Given the description of an element on the screen output the (x, y) to click on. 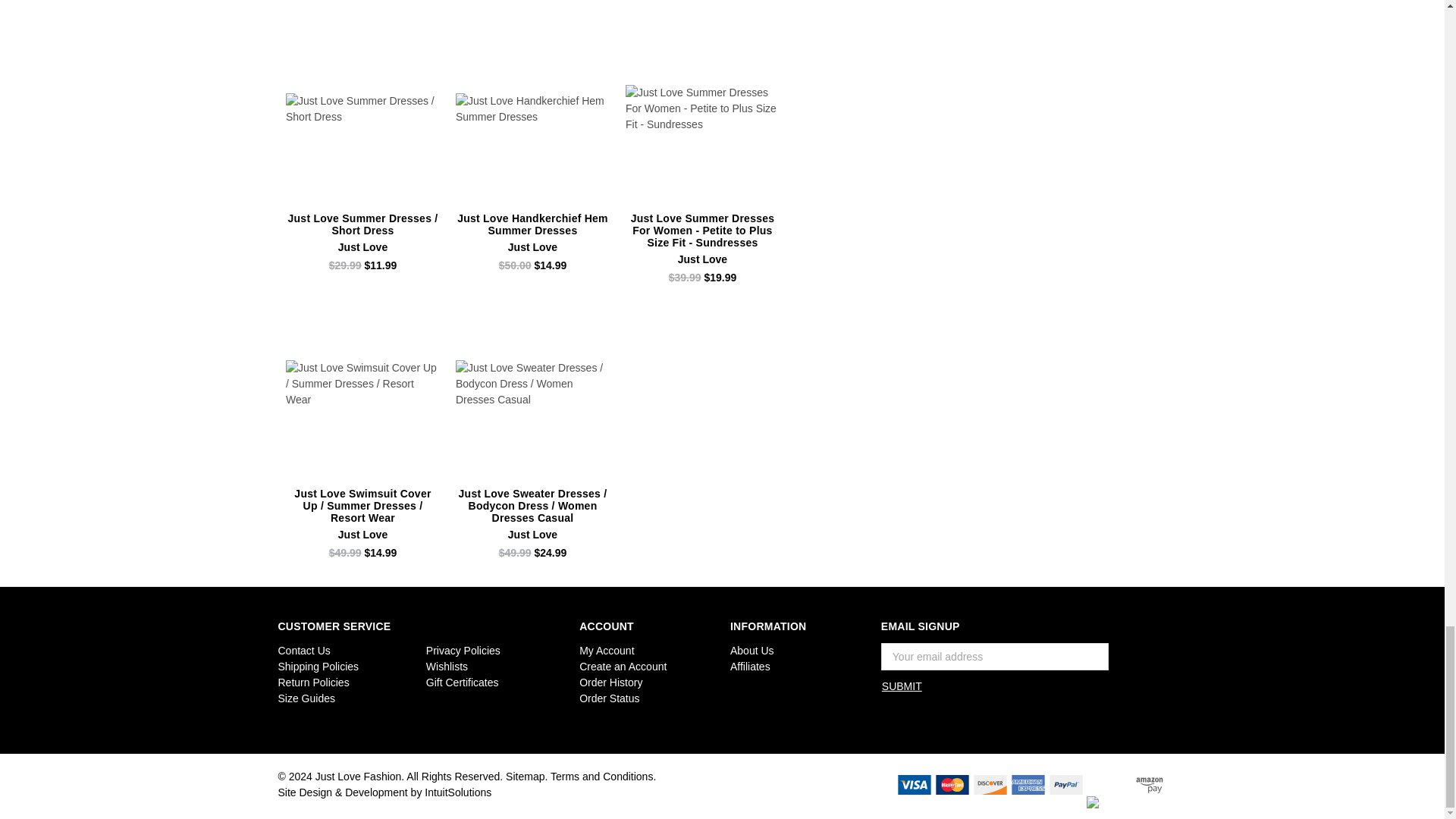
We accept American Express American Express logo (1027, 784)
Submit (901, 685)
We accept Paypal Paypal logo (1065, 784)
We accept Mastercard Mastercard logo (952, 784)
We accept Discover Discover logo (990, 784)
We accept Visa Visa logo (914, 784)
